Given the description of an element on the screen output the (x, y) to click on. 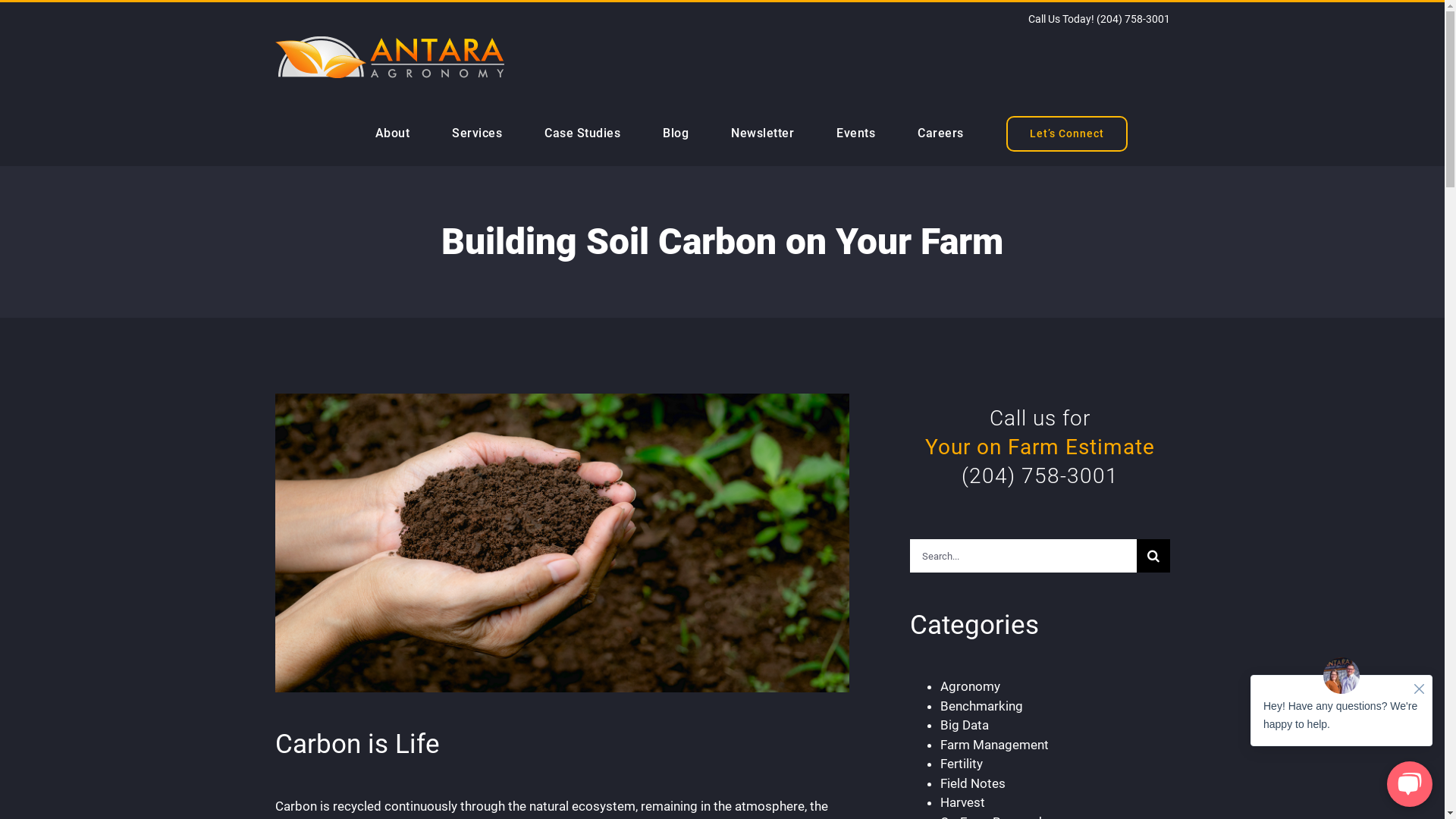
Newsletter Element type: text (762, 133)
(204) 758-3001 Element type: text (1039, 474)
Blog Element type: text (675, 133)
(204) 758-3001 Element type: text (1133, 18)
Farm Management Element type: text (994, 744)
Big Data Element type: text (964, 724)
Agronomy Element type: text (970, 685)
Careers Element type: text (940, 133)
Fertility Element type: text (961, 763)
About Element type: text (391, 133)
Benchmarking Element type: text (981, 705)
Events Element type: text (855, 133)
Field Notes Element type: text (972, 782)
Harvest Element type: text (962, 801)
Services Element type: text (476, 133)
Case Studies Element type: text (582, 133)
